Given the description of an element on the screen output the (x, y) to click on. 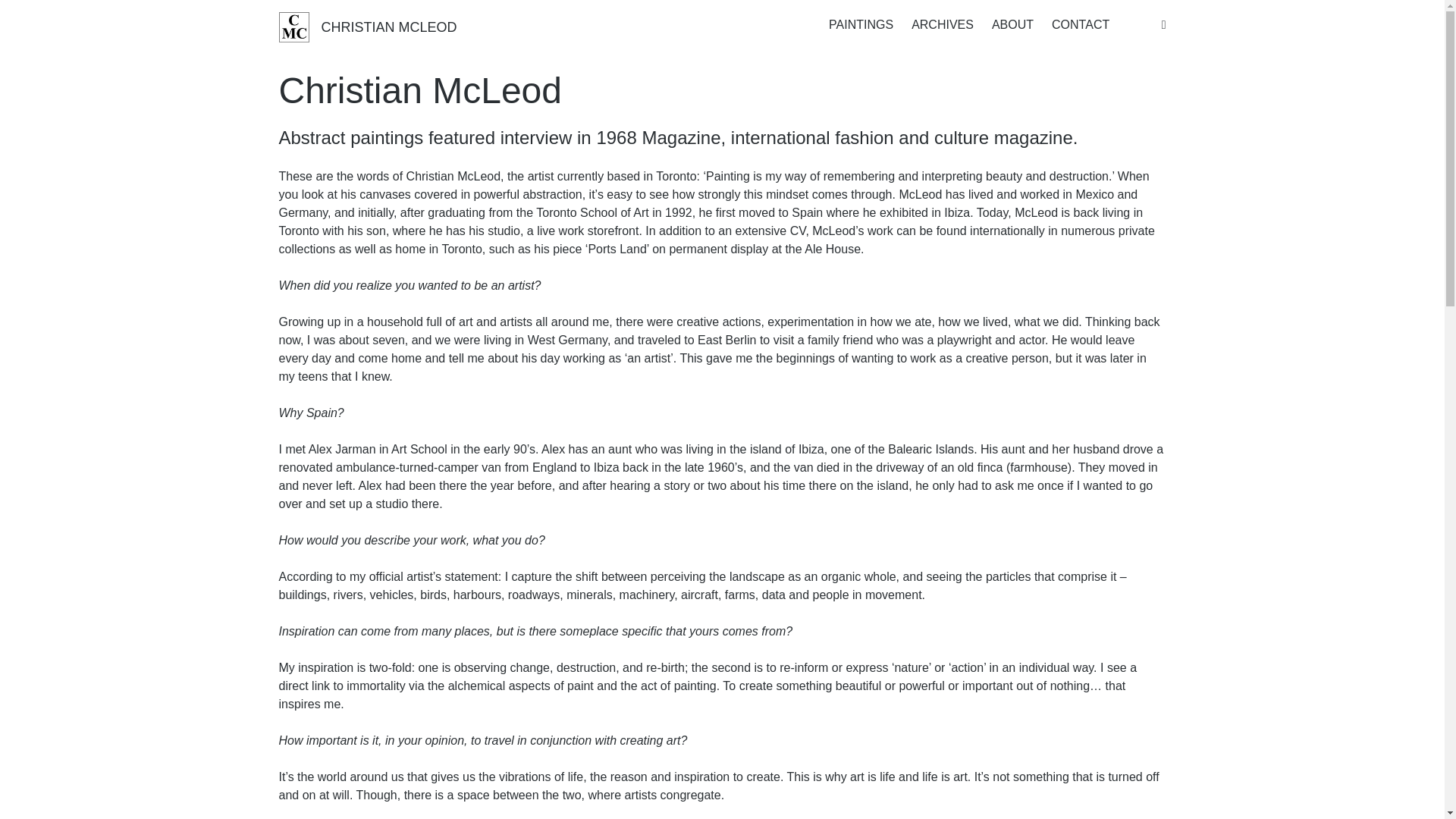
PAINTINGS (860, 24)
ARCHIVES (942, 24)
ABOUT (1012, 24)
Submit (558, 481)
CONTACT (1080, 24)
CHRISTIAN MCLEOD (368, 27)
